Given the description of an element on the screen output the (x, y) to click on. 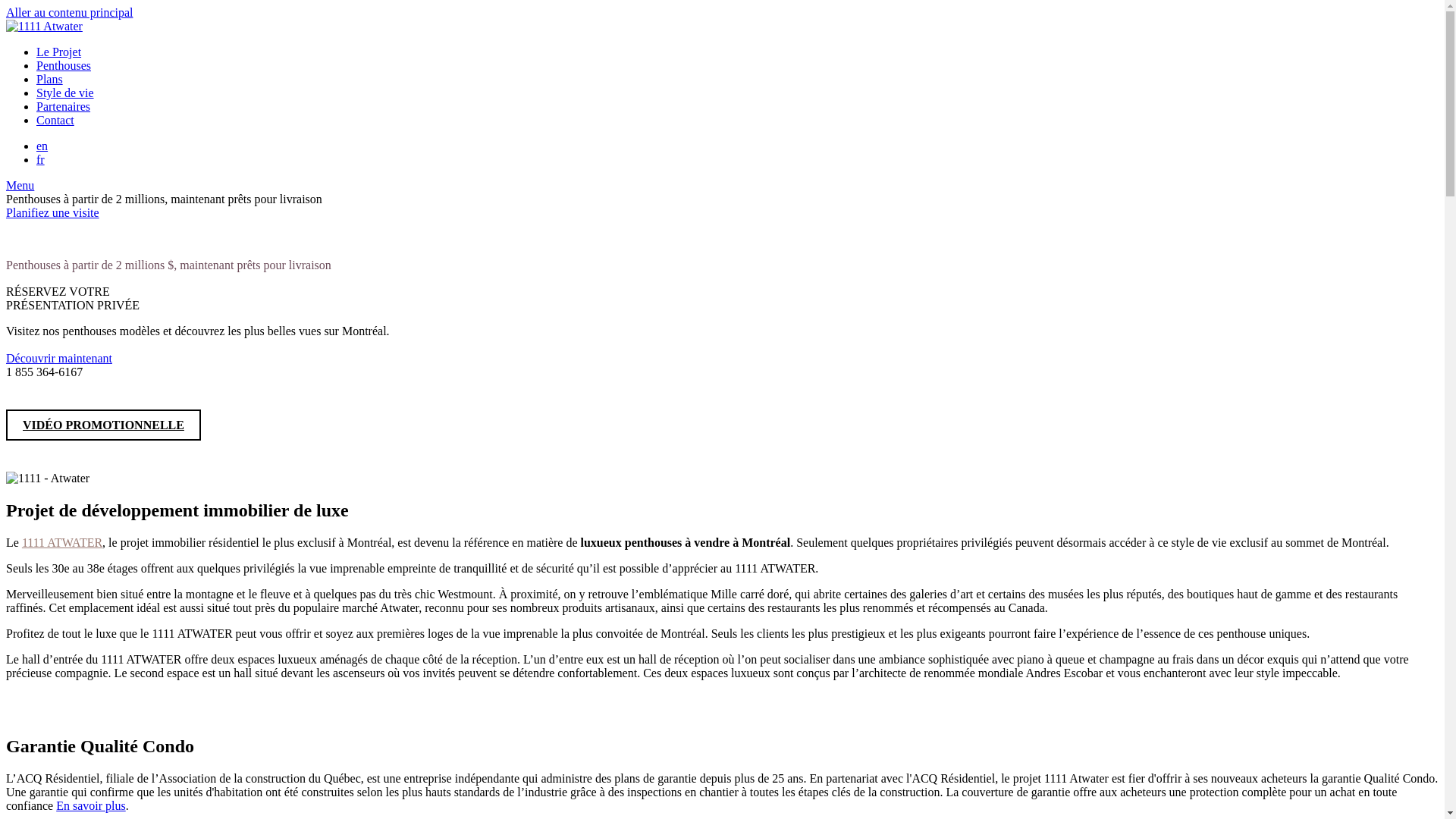
Penthouses Element type: text (63, 65)
en Element type: text (41, 145)
fr Element type: text (40, 159)
Menu Element type: text (20, 184)
Contact Element type: text (55, 119)
Planifiez une visite Element type: text (52, 212)
Style de vie Element type: text (65, 92)
En savoir plus Element type: text (90, 805)
Aller au contenu principal Element type: text (69, 12)
Plans Element type: text (49, 78)
1111 ATWATER Element type: text (61, 542)
Partenaires Element type: text (63, 106)
Le Projet Element type: text (58, 51)
